Given the description of an element on the screen output the (x, y) to click on. 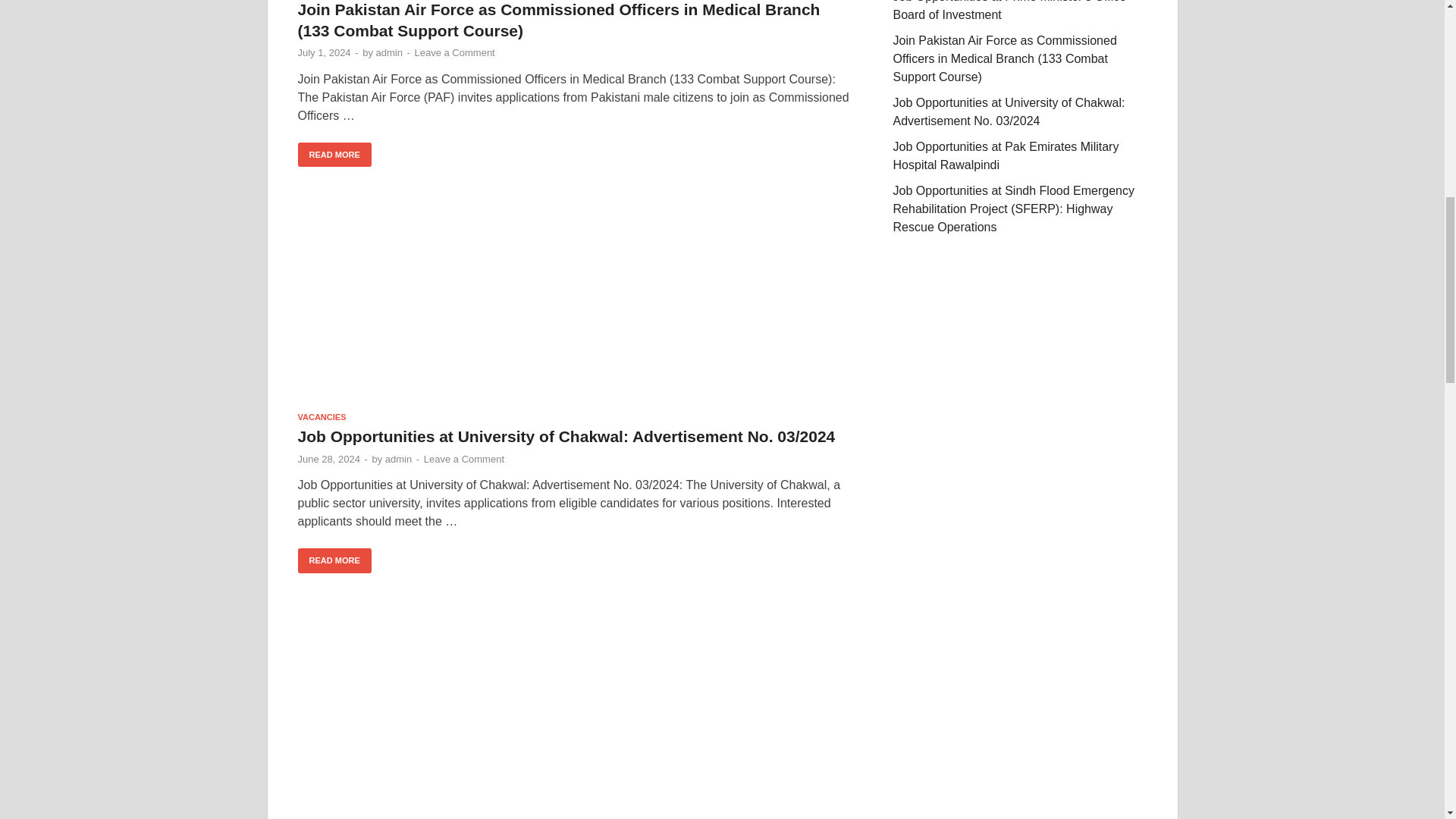
admin (389, 52)
July 1, 2024 (323, 52)
Leave a Comment (454, 52)
